Given the description of an element on the screen output the (x, y) to click on. 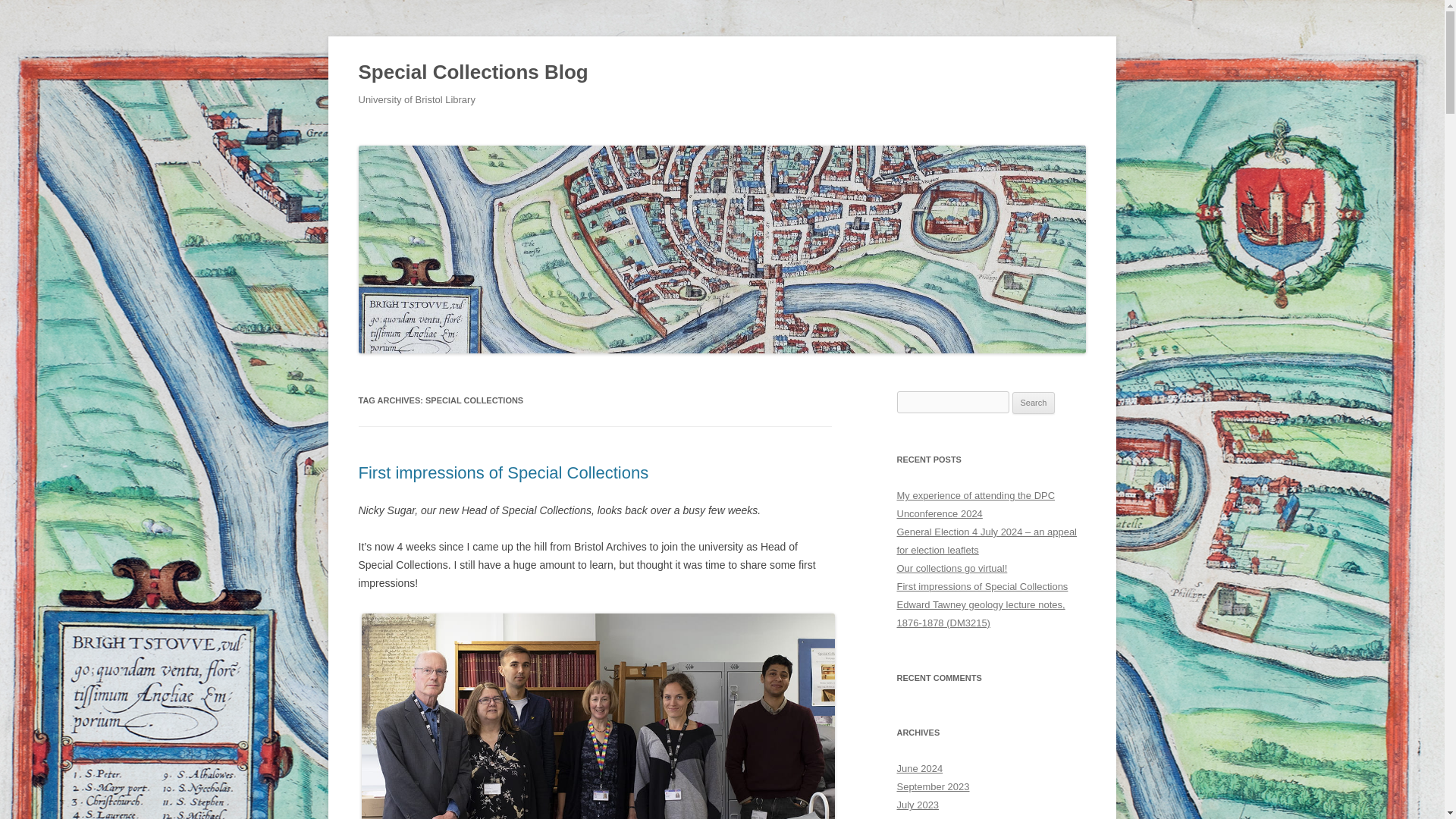
Search (1033, 403)
Special Collections Blog (473, 72)
First impressions of Special Collections (502, 472)
